Given the description of an element on the screen output the (x, y) to click on. 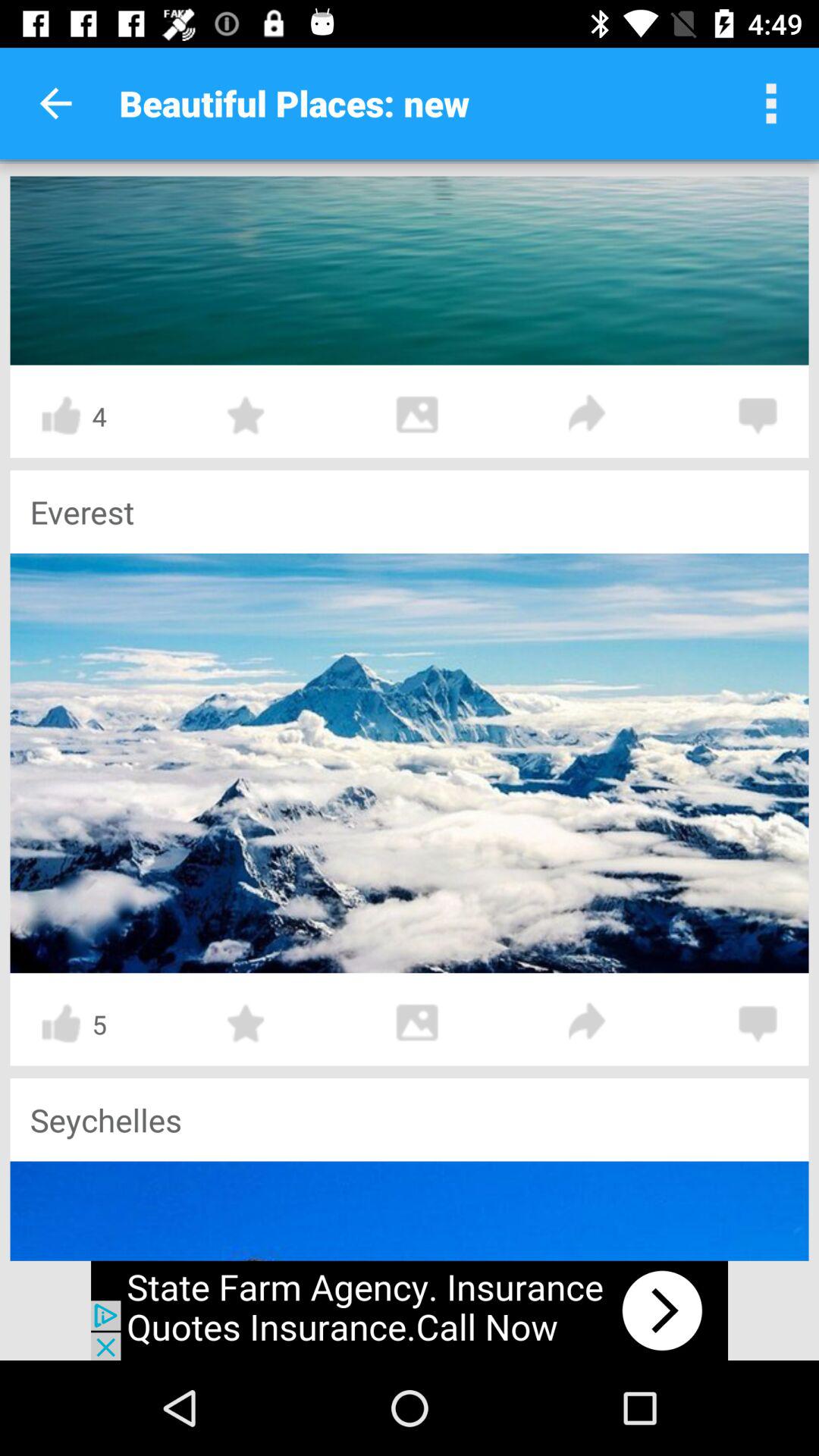
view this picture (409, 270)
